Given the description of an element on the screen output the (x, y) to click on. 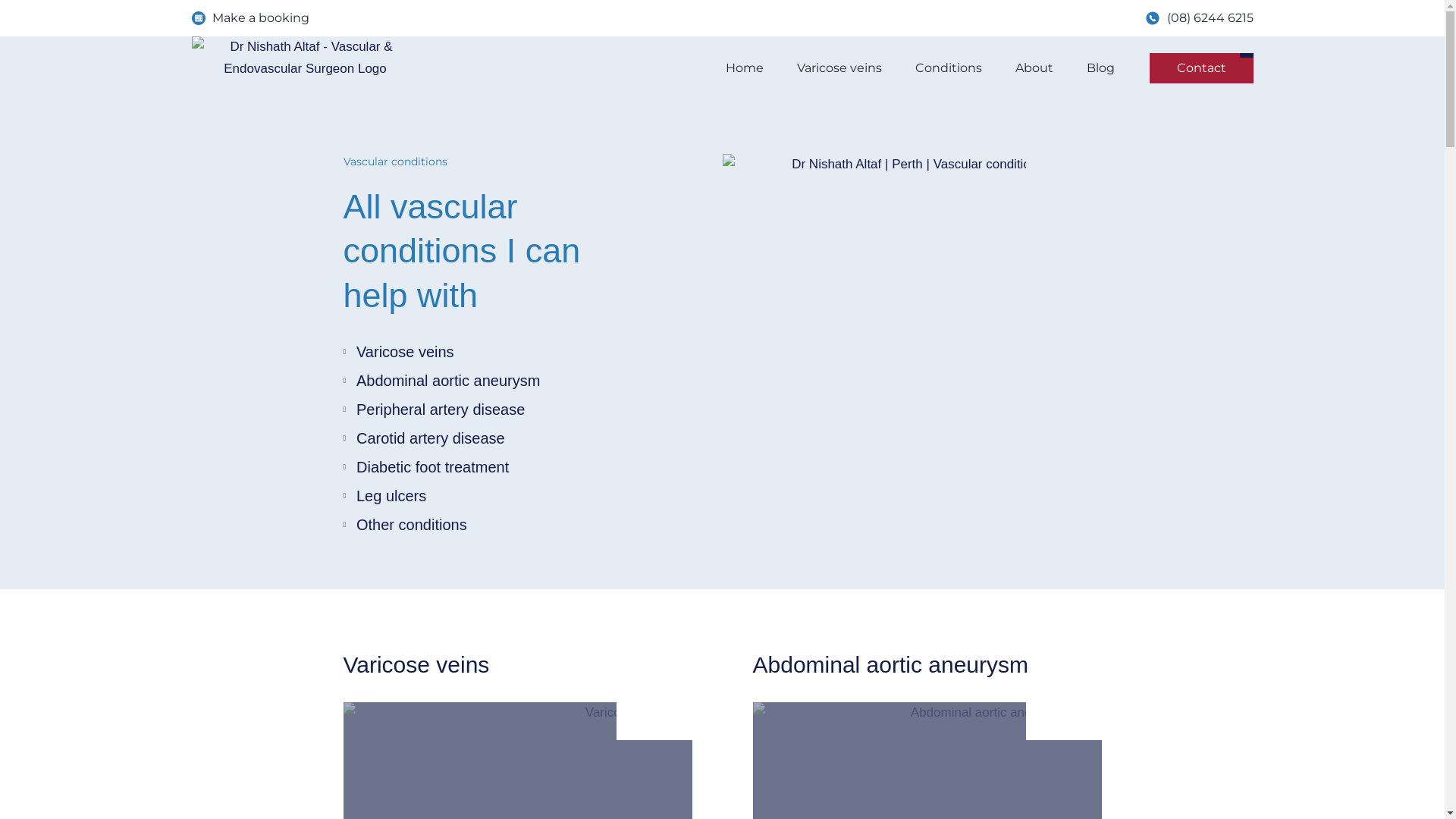
Conditions Element type: text (947, 68)
Leg ulcers Element type: text (492, 495)
Diabetic foot treatment Element type: text (492, 466)
Varicose veins Element type: text (415, 664)
Varicose veins Element type: text (838, 68)
Abdominal aortic aneurysm Element type: text (492, 380)
Peripheral artery disease Element type: text (492, 409)
Make a booking Element type: text (250, 18)
About Element type: text (1033, 68)
Blog Element type: text (1099, 68)
Other conditions Element type: text (492, 524)
Varicose veins Element type: text (492, 351)
Home Element type: text (743, 68)
Contact Element type: text (1201, 68)
(08) 6244 6215 Element type: text (1199, 18)
Abdominal aortic aneurysm Element type: text (890, 664)
Carotid artery disease Element type: text (492, 437)
